Given the description of an element on the screen output the (x, y) to click on. 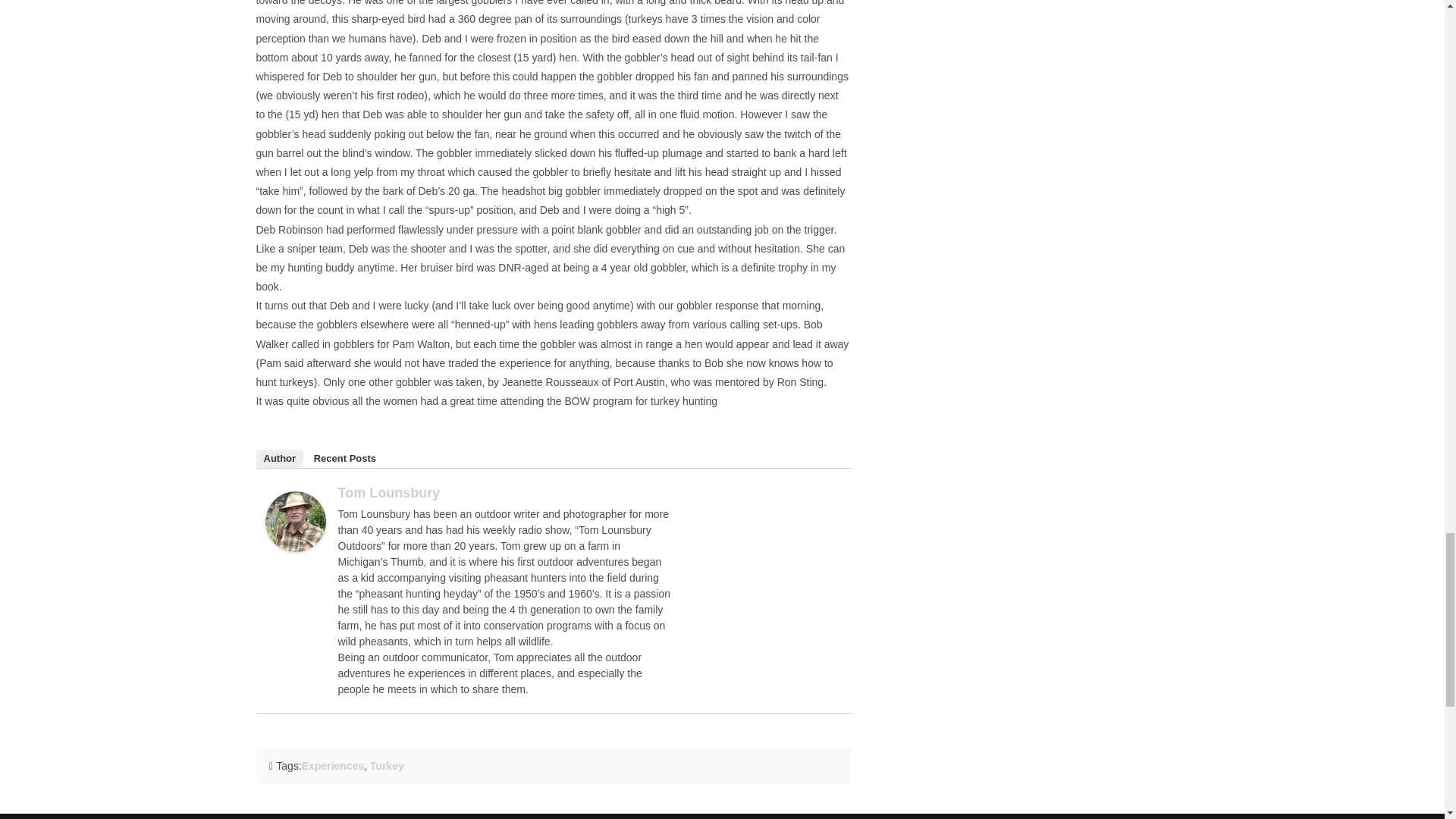
Tom Lounsbury (295, 521)
Author (280, 458)
Tom Lounsbury (389, 492)
Recent Posts (344, 458)
Turkey (386, 766)
Experiences (333, 766)
